Given the description of an element on the screen output the (x, y) to click on. 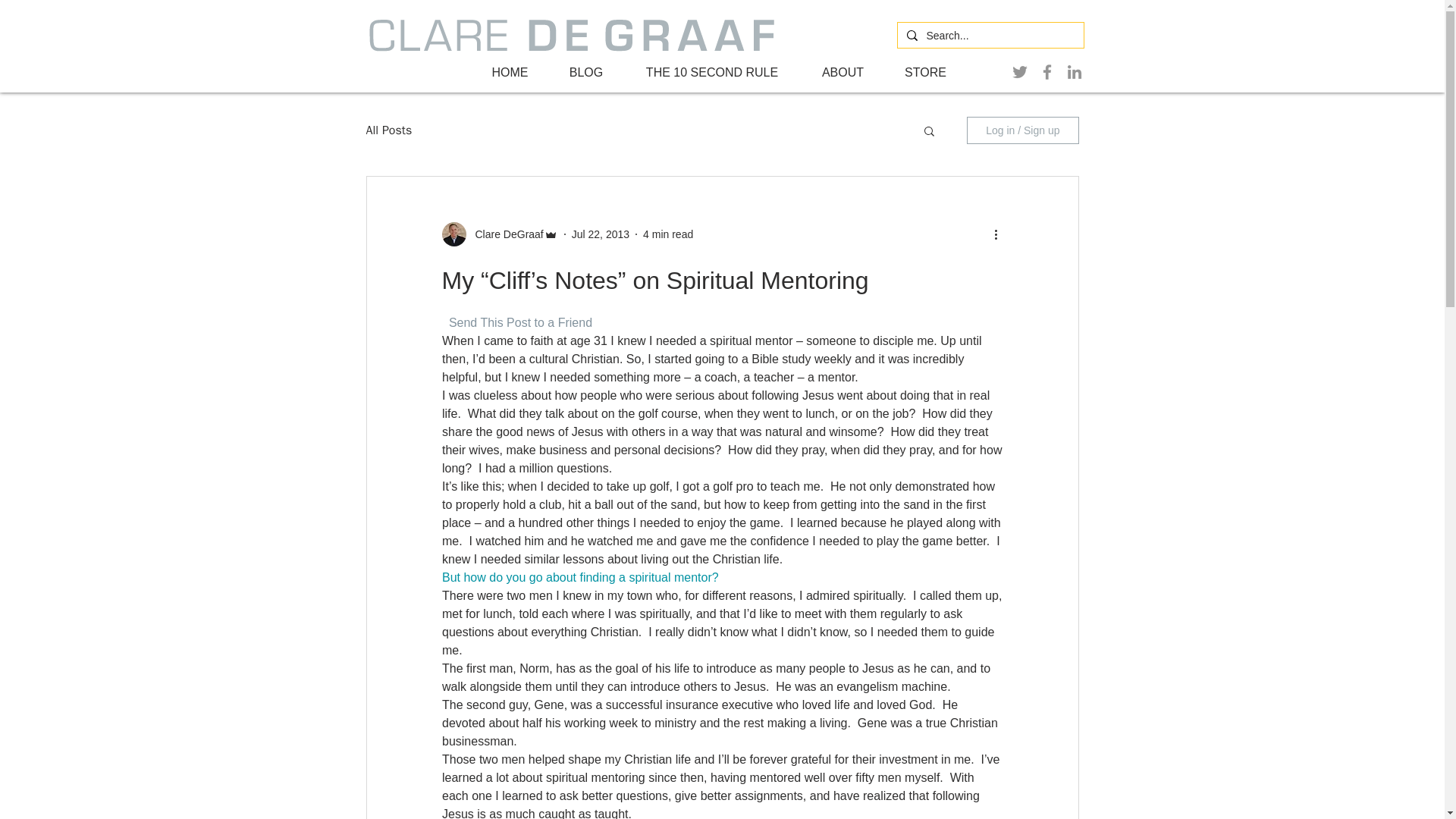
ABOUT (841, 72)
4 min read (668, 233)
All Posts (388, 130)
HOME (509, 72)
THE 10 SECOND RULE (712, 72)
Clare DeGraaf (499, 233)
Jul 22, 2013 (600, 233)
STORE (924, 72)
Clare DeGraaf (504, 233)
BLOG (585, 72)
Send This Post to a Friend (519, 322)
